Given the description of an element on the screen output the (x, y) to click on. 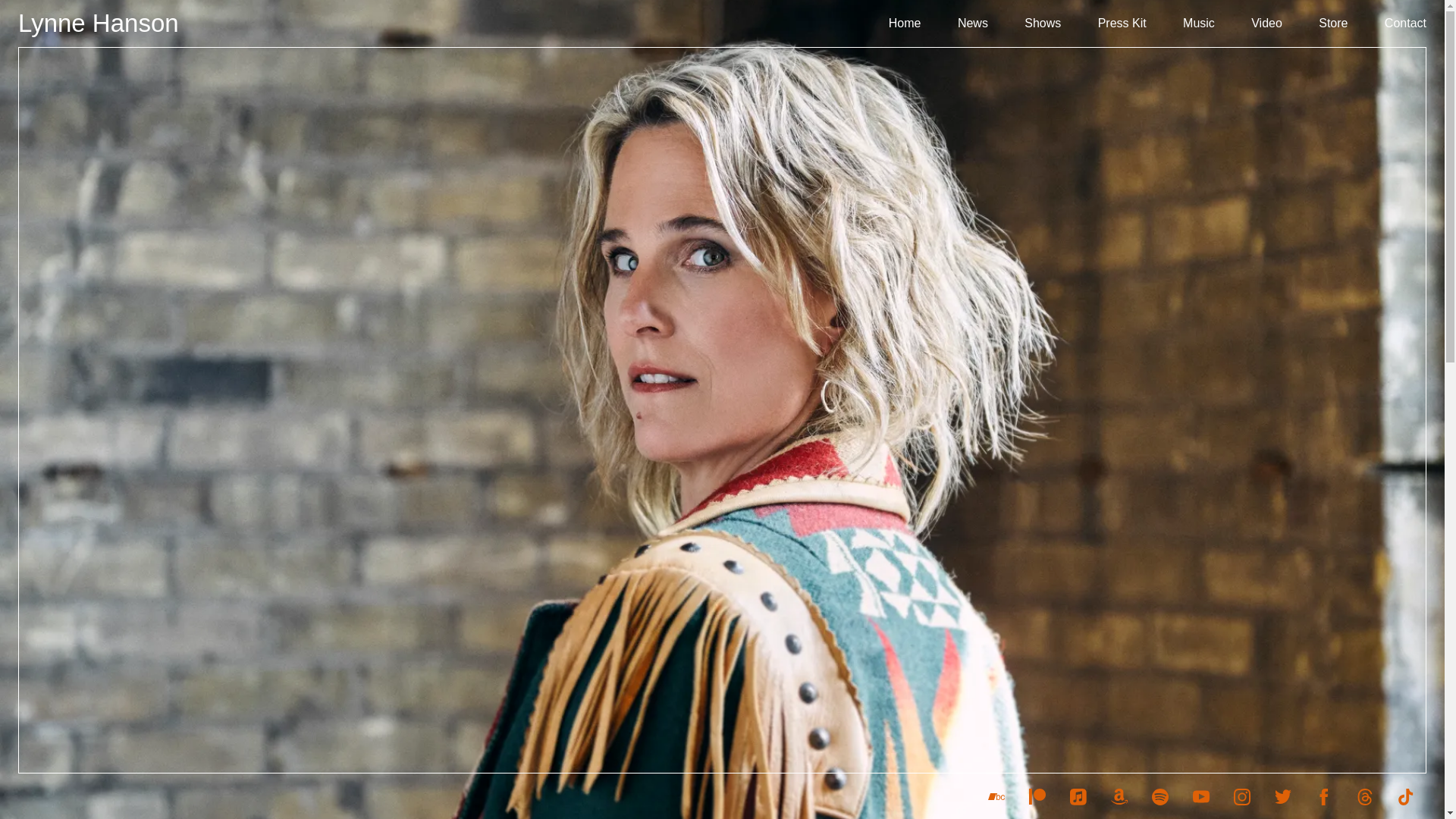
Store (1333, 23)
Shows (1043, 23)
Contact (1405, 23)
Lynne Hanson (98, 22)
Home (904, 23)
Music (1198, 23)
News (973, 23)
Press Kit (1122, 23)
Video (1266, 23)
